Given the description of an element on the screen output the (x, y) to click on. 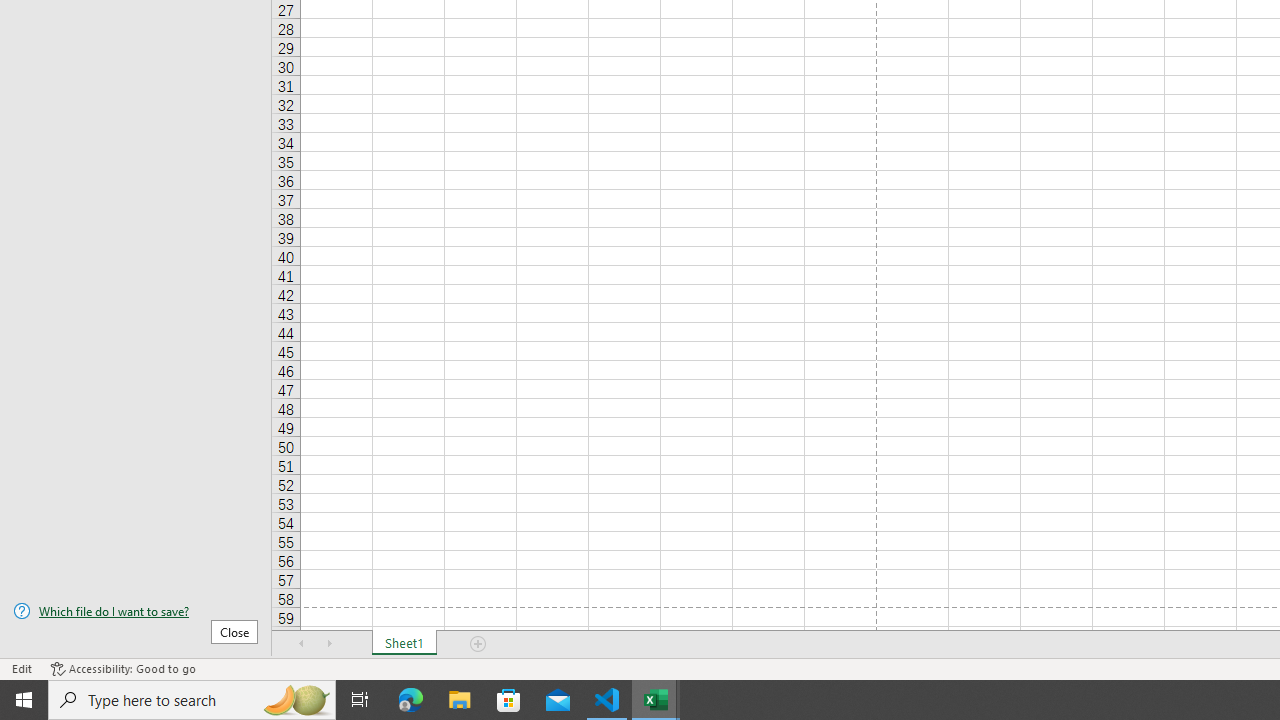
Close (234, 631)
Scroll Left (302, 644)
Scroll Right (330, 644)
Add Sheet (478, 644)
Accessibility Checker Accessibility: Good to go (123, 668)
Sheet1 (404, 644)
Which file do I want to save? (136, 611)
